Given the description of an element on the screen output the (x, y) to click on. 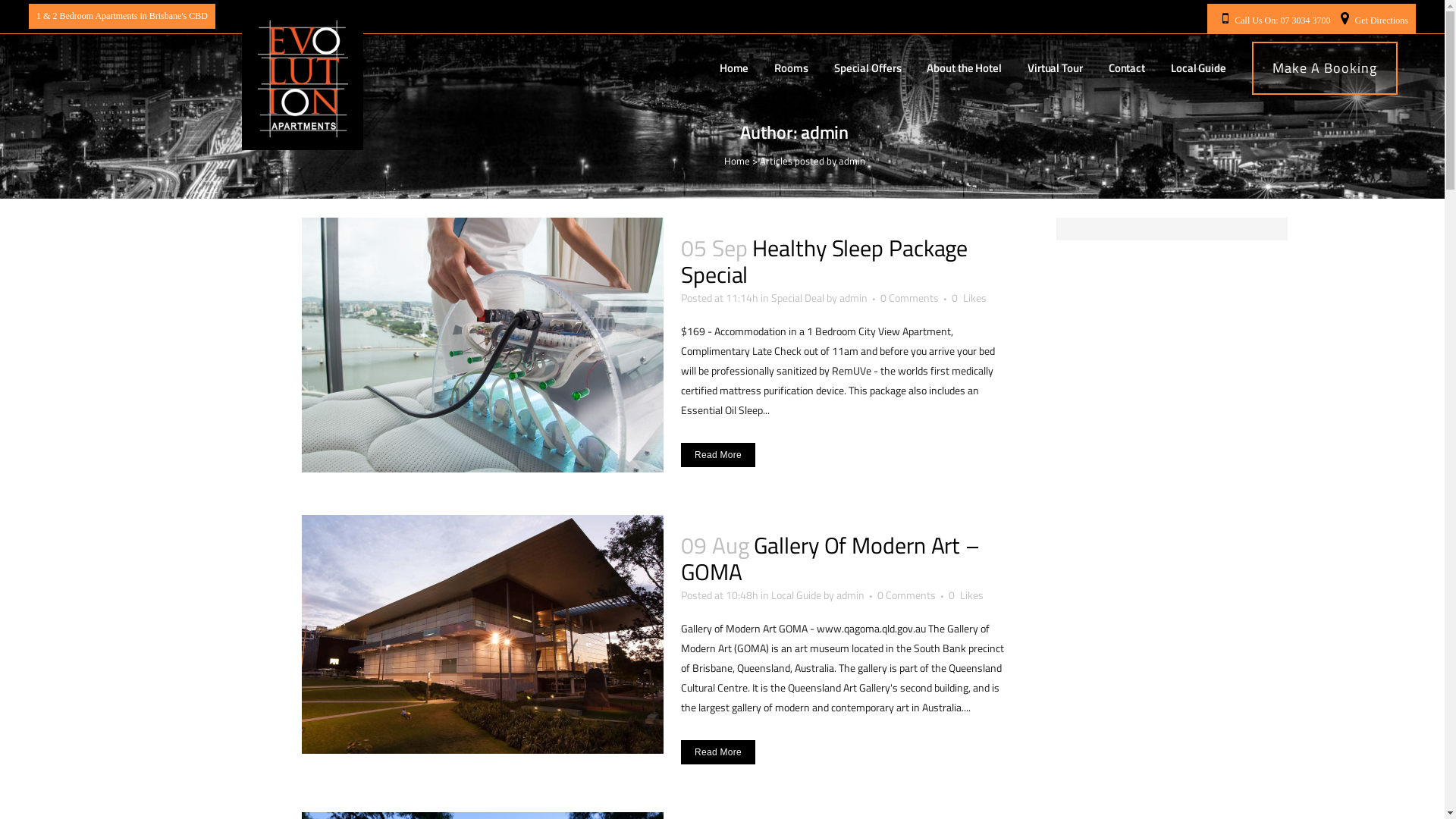
admin Element type: text (853, 297)
admin Element type: text (850, 594)
0 Comments Element type: text (909, 297)
Local Guide Element type: text (1198, 68)
Healthy Sleep Package Special Element type: text (823, 260)
0 Comments Element type: text (906, 594)
Contact Element type: text (1126, 68)
About the Hotel Element type: text (963, 68)
Local Guide Element type: text (796, 594)
Home Element type: text (736, 160)
Read More Element type: text (717, 752)
Read More Element type: text (717, 454)
Healthy Sleep Package Special Element type: hover (482, 344)
Virtual Tour Element type: text (1054, 68)
Get Directions Element type: text (1381, 20)
Home Element type: text (734, 68)
Special Deal Element type: text (797, 297)
0 Likes Element type: text (968, 297)
Call Us On: 07 3034 3700 Element type: text (1282, 20)
Special Offers Element type: text (867, 68)
Rooms Element type: text (791, 68)
Make A Booking Element type: text (1324, 68)
0 Likes Element type: text (965, 594)
